Given the description of an element on the screen output the (x, y) to click on. 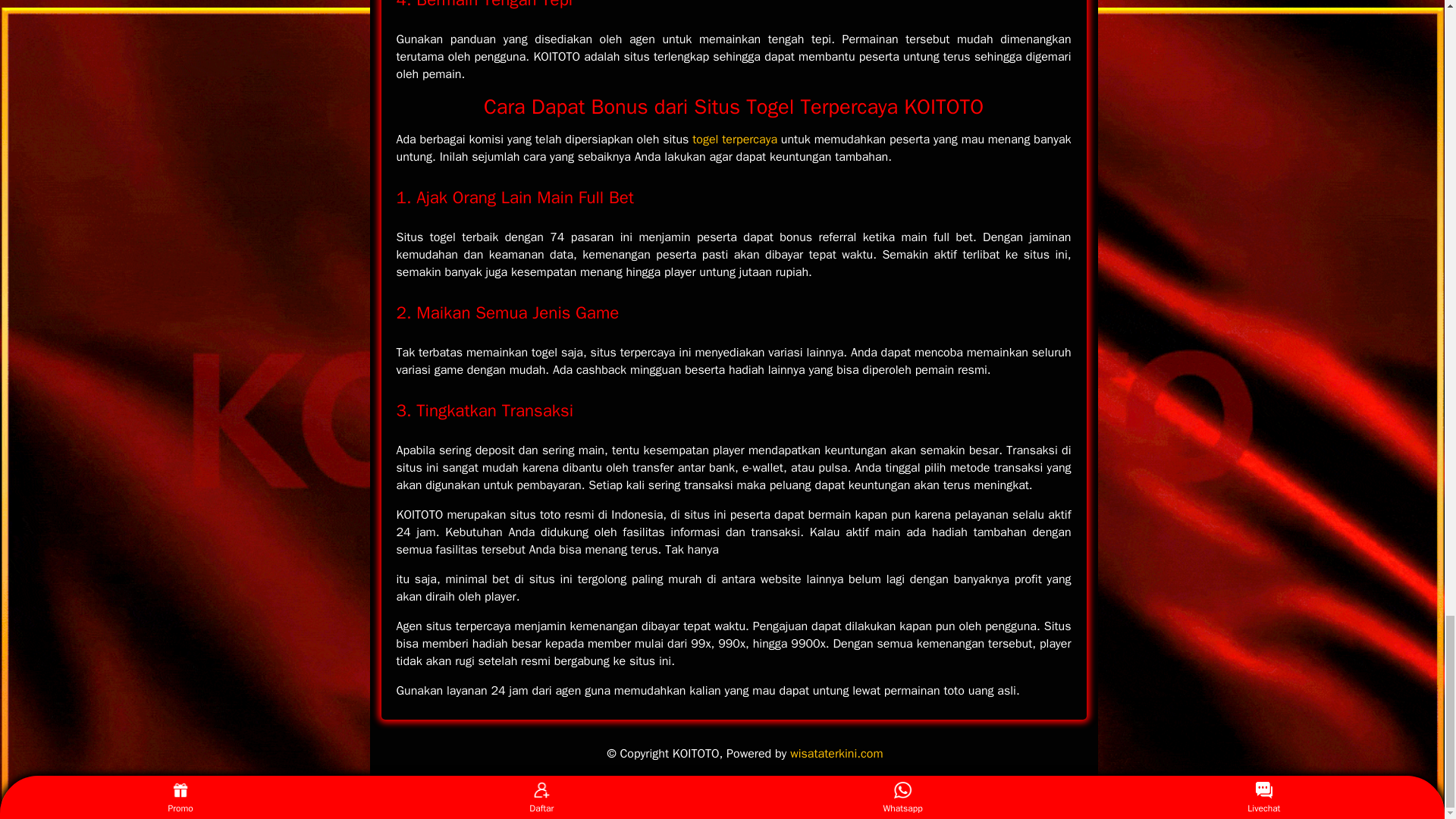
wisataterkini.com (836, 753)
togel terpercaya (735, 139)
togel terpercaya (735, 139)
wisataterkini.com (836, 753)
